Given the description of an element on the screen output the (x, y) to click on. 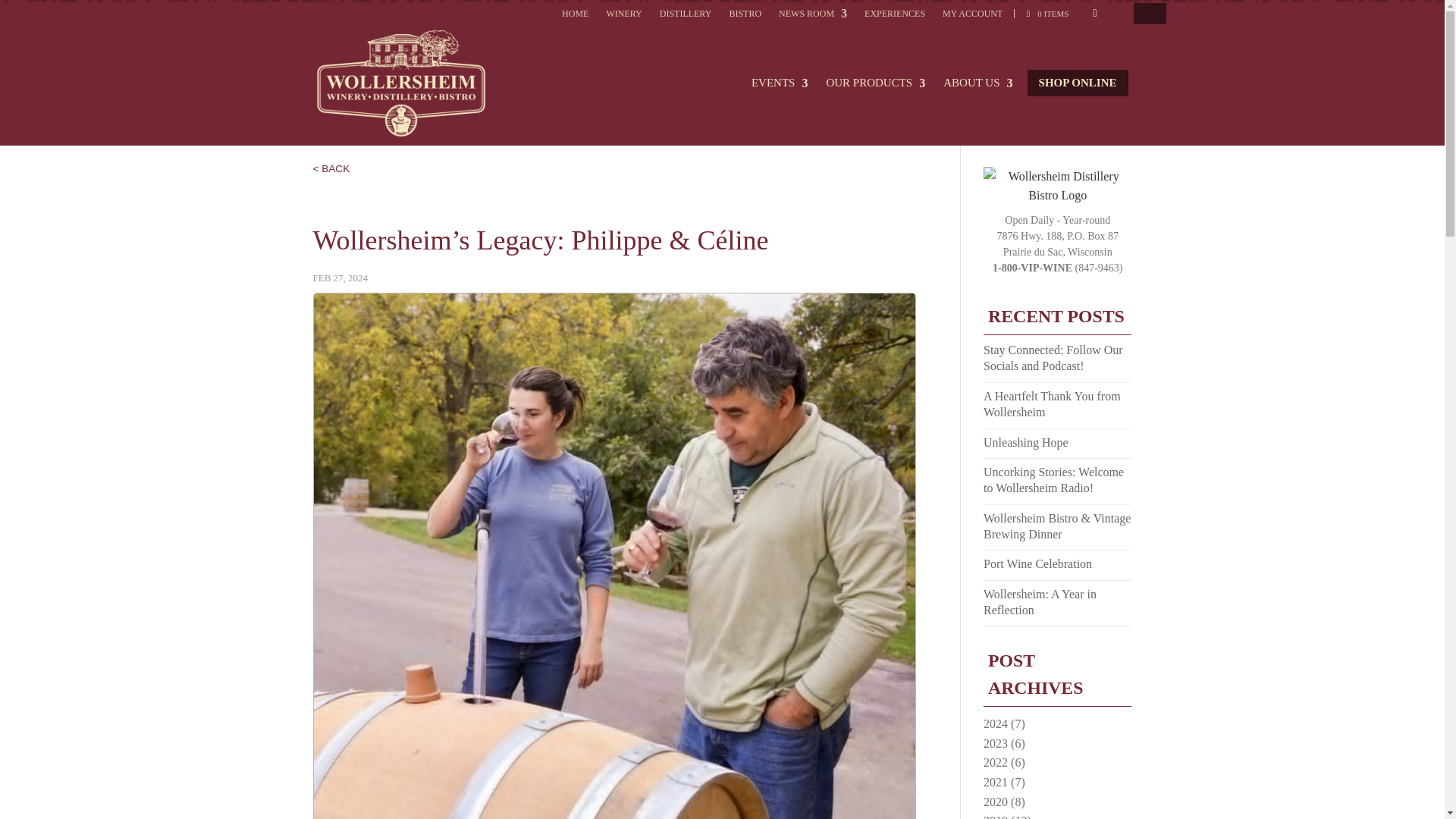
WINERY (623, 17)
Wollersheim Distillery Bistro Logo (1057, 213)
MY ACCOUNT (972, 17)
OUR PRODUCTS (874, 91)
EVENTS (779, 91)
0 ITEMS (1040, 13)
DISTILLERY (685, 17)
EXPERIENCES (894, 17)
HOME (575, 17)
BISTRO (745, 17)
ABOUT US (977, 91)
SHOP ONLINE (1077, 82)
NEWS ROOM (812, 17)
